Given the description of an element on the screen output the (x, y) to click on. 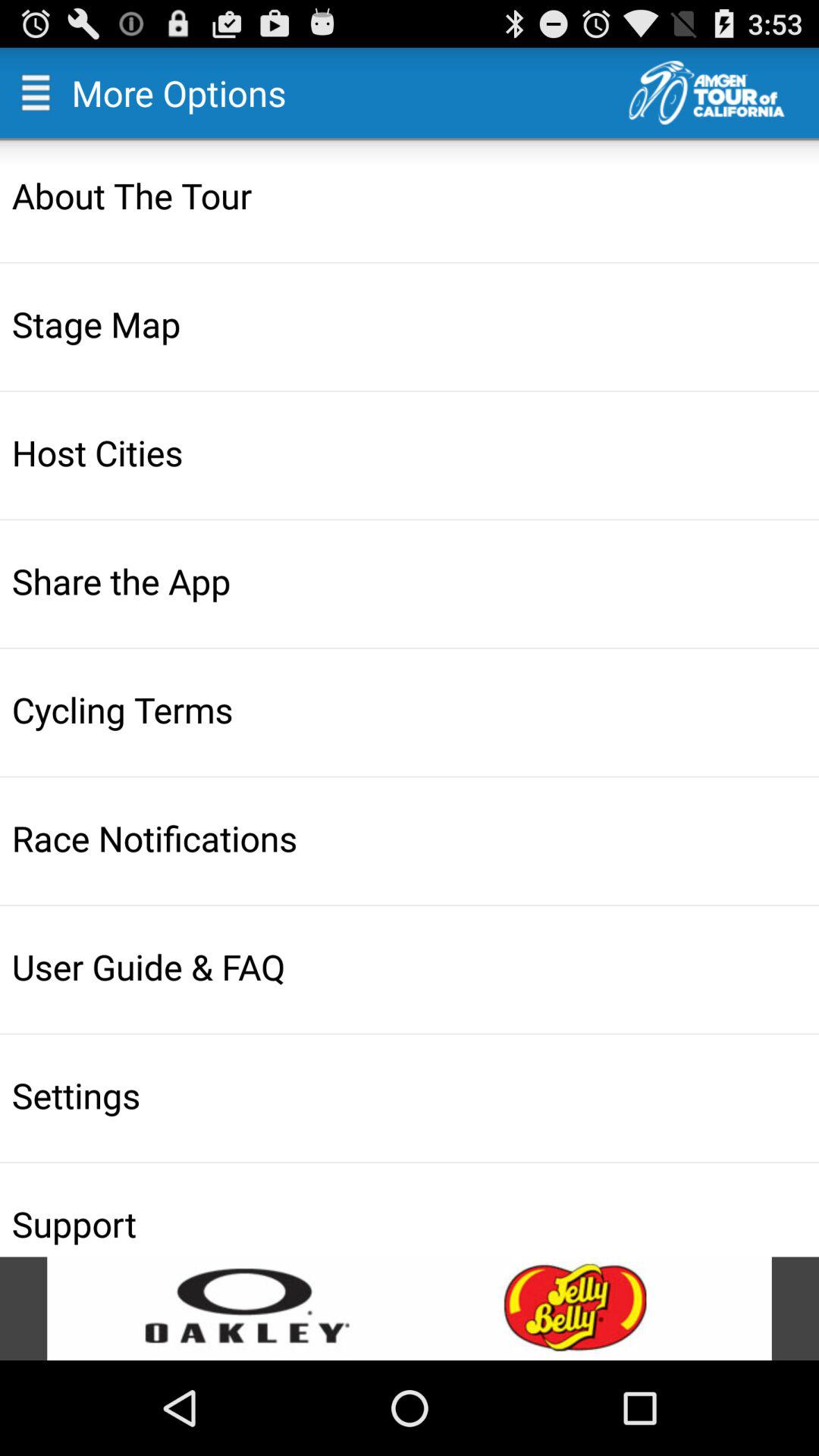
go to the main page (724, 92)
